Given the description of an element on the screen output the (x, y) to click on. 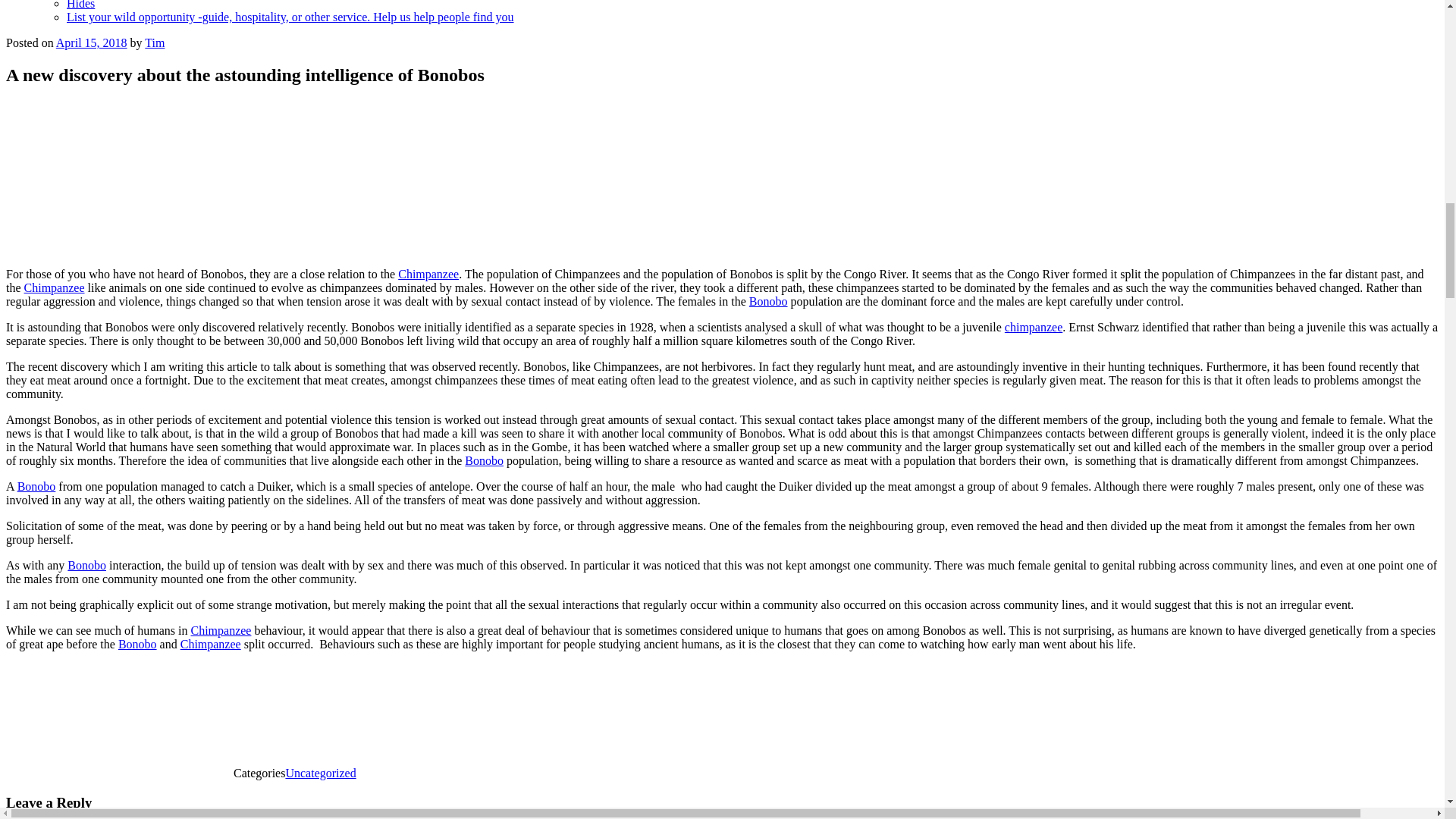
Chimpanzee (1033, 327)
Bonobo (137, 644)
Bonobo (86, 564)
Chimpanzee (54, 287)
Chimpanzee (427, 273)
Chimpanzee (220, 630)
Bonobo (483, 460)
Bonobo (36, 486)
Chimpanzee (210, 644)
Bonobo (768, 300)
